Given the description of an element on the screen output the (x, y) to click on. 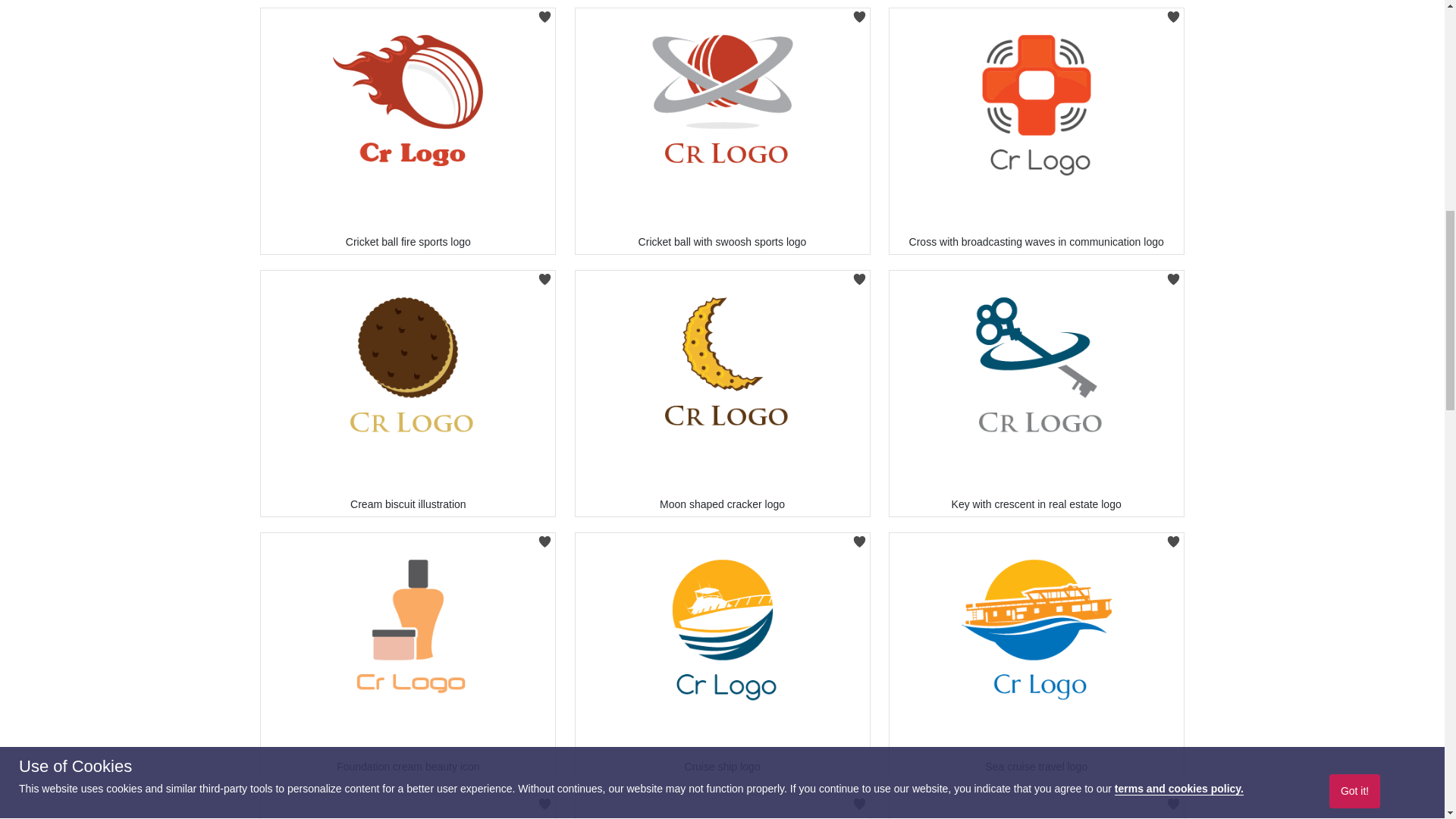
Add To Favorite (544, 12)
Select (407, 17)
Select (722, 17)
Add To Favorite (544, 536)
Add To Favorite (544, 799)
Add To Favorite (1173, 274)
Add To Favorite (858, 274)
Add To Favorite (1173, 536)
Add To Favorite (858, 12)
Add To Favorite (858, 536)
Add To Favorite (1173, 12)
Add To Favorite (544, 274)
